Given the description of an element on the screen output the (x, y) to click on. 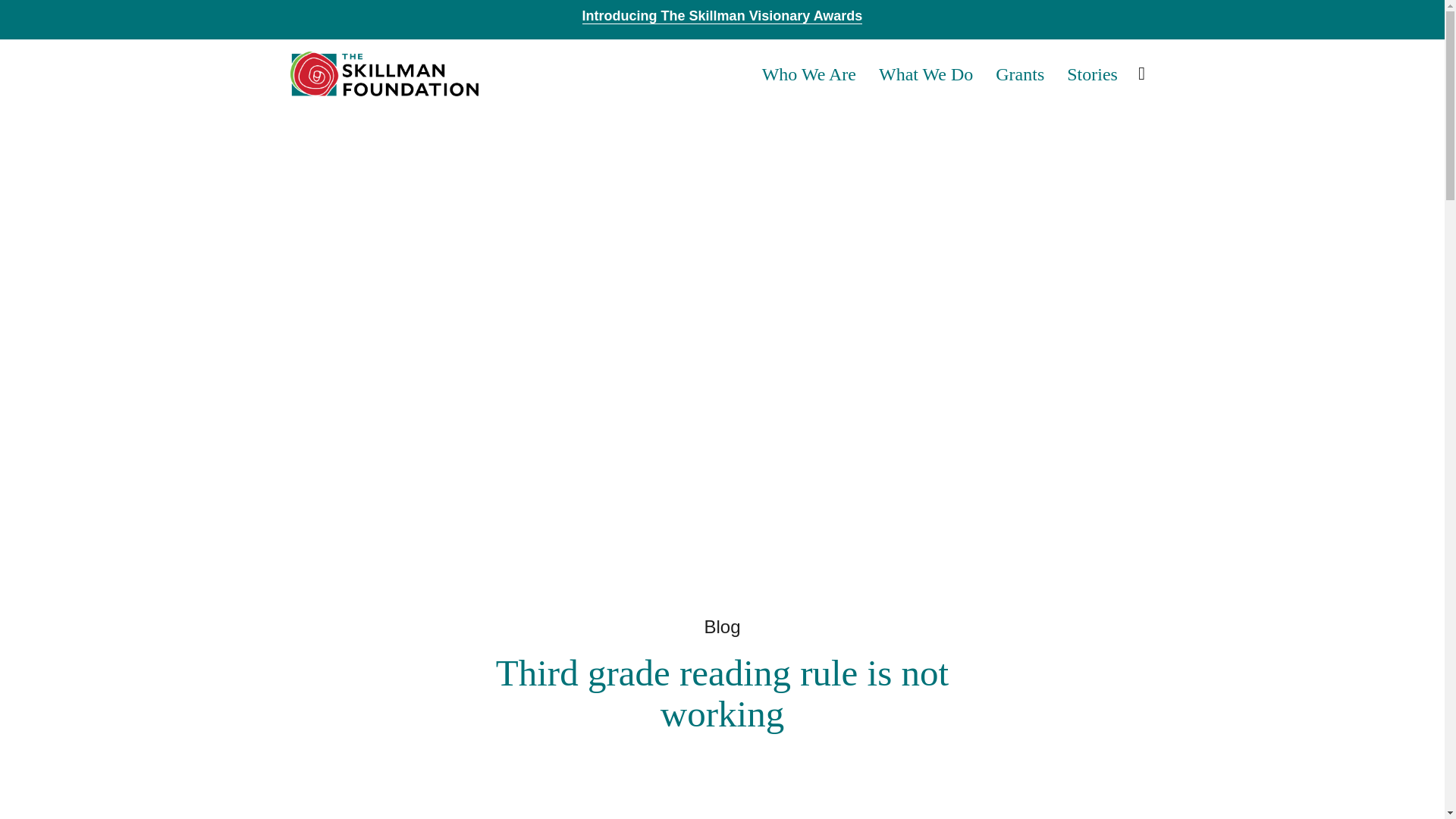
Who We Are (809, 73)
Stories (1092, 73)
Who We Are (809, 73)
What We Do (925, 73)
Introducing The Skillman Visionary Awards (722, 16)
What We Do (925, 73)
Grants (1019, 73)
The Skillman Foundation (383, 73)
